Given the description of an element on the screen output the (x, y) to click on. 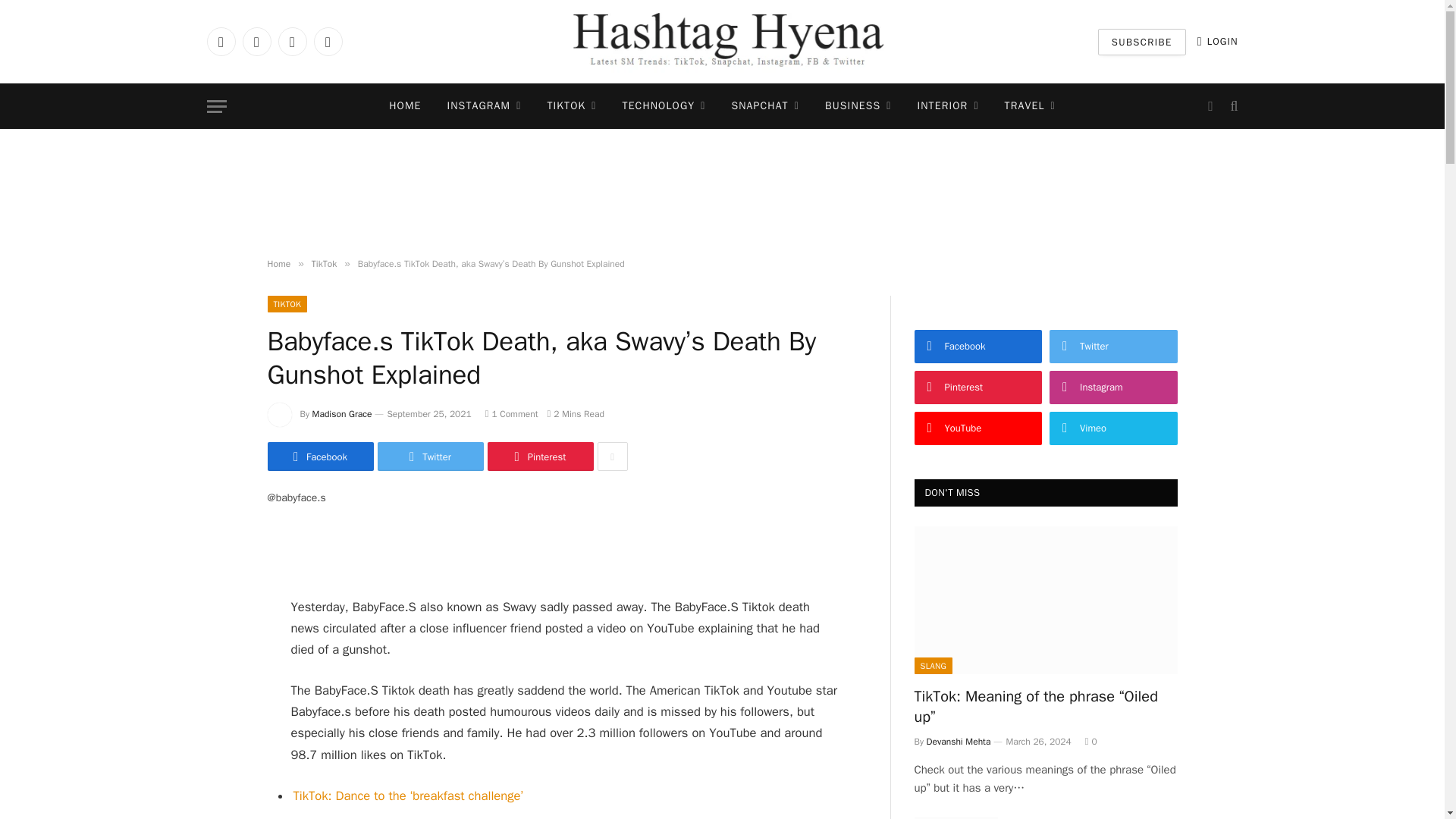
INSTAGRAM (483, 105)
LOGIN (1217, 41)
Facebook (220, 41)
TECHNOLOGY (664, 105)
Share on Facebook (319, 456)
BUSINESS (858, 105)
Instagram (291, 41)
HOME (404, 105)
Switch to Dark Design - easier on eyes. (1209, 106)
TIKTOK (571, 105)
